Given the description of an element on the screen output the (x, y) to click on. 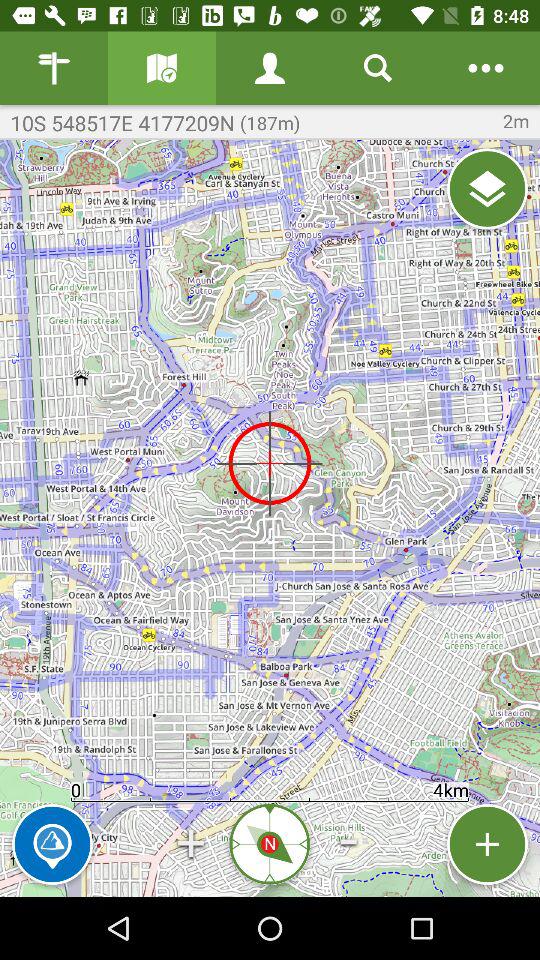
get directions (162, 68)
